Given the description of an element on the screen output the (x, y) to click on. 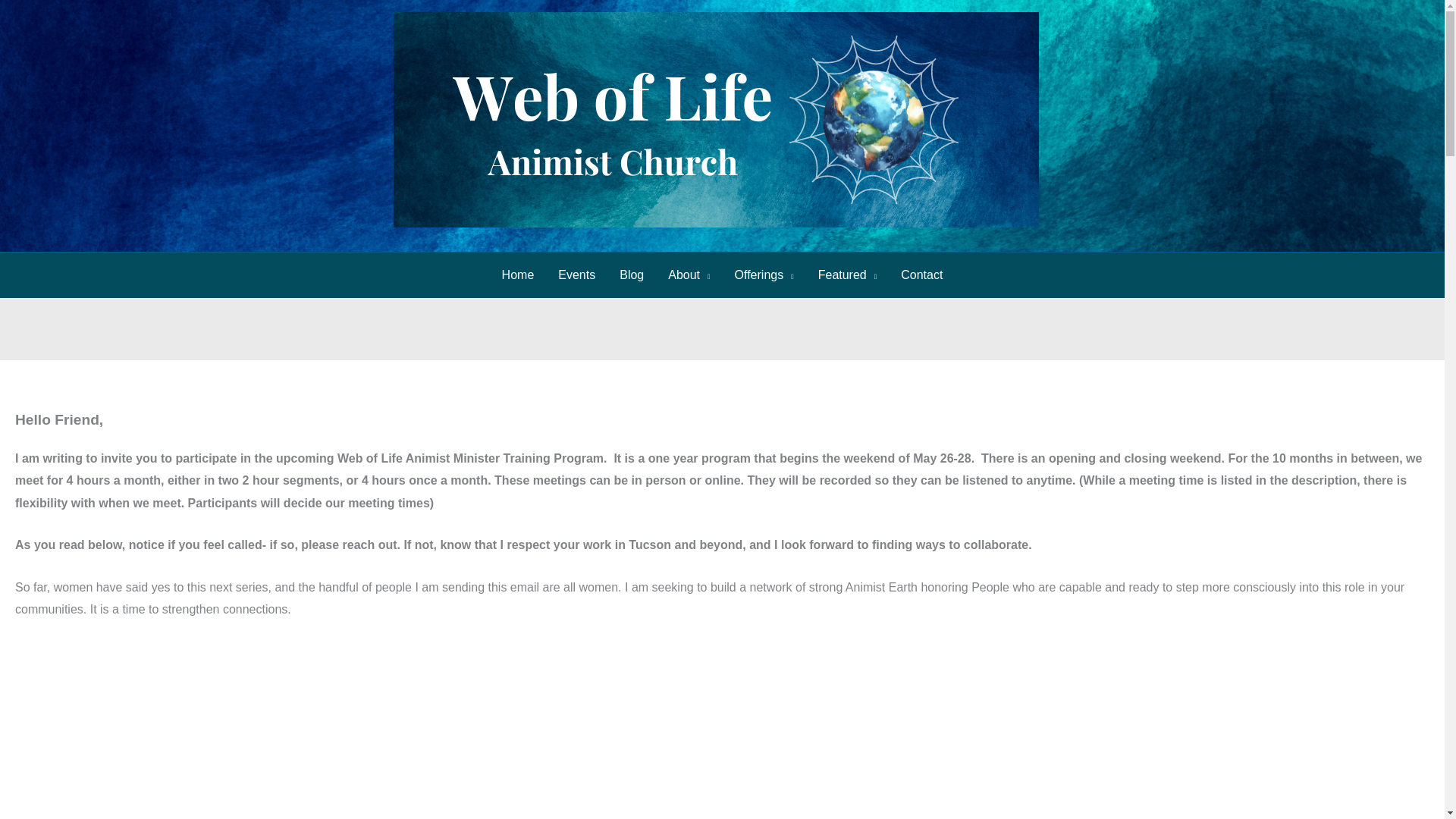
Home (518, 275)
Offerings (764, 275)
About (689, 275)
Blog (631, 275)
Events (576, 275)
